Given the description of an element on the screen output the (x, y) to click on. 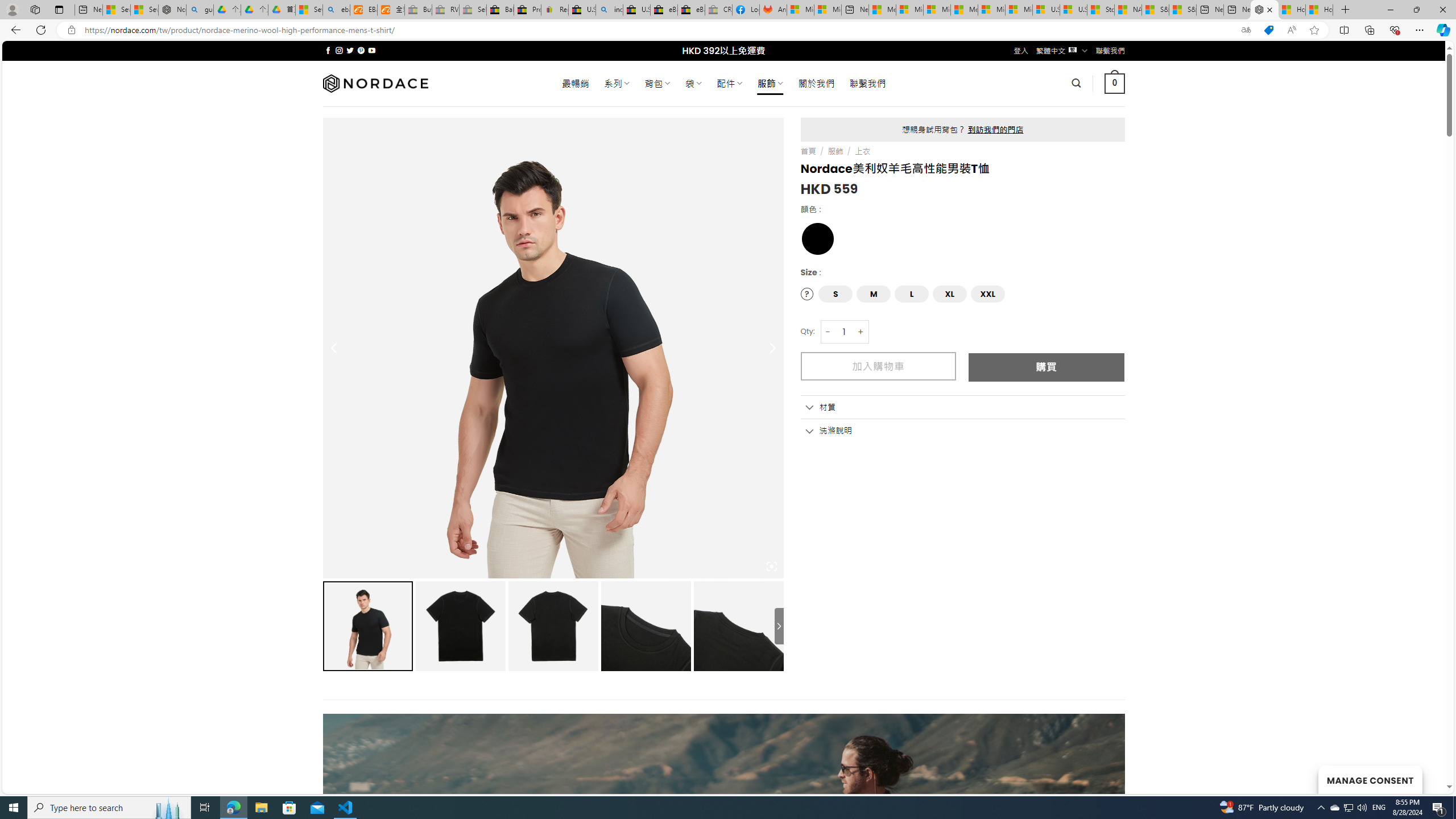
Sell worldwide with eBay - Sleeping (473, 9)
Microsoft account | Privacy (909, 9)
Register: Create a personal eBay account (554, 9)
Microsoft account | Home (936, 9)
Baby Keepsakes & Announcements for sale | eBay (499, 9)
